Given the description of an element on the screen output the (x, y) to click on. 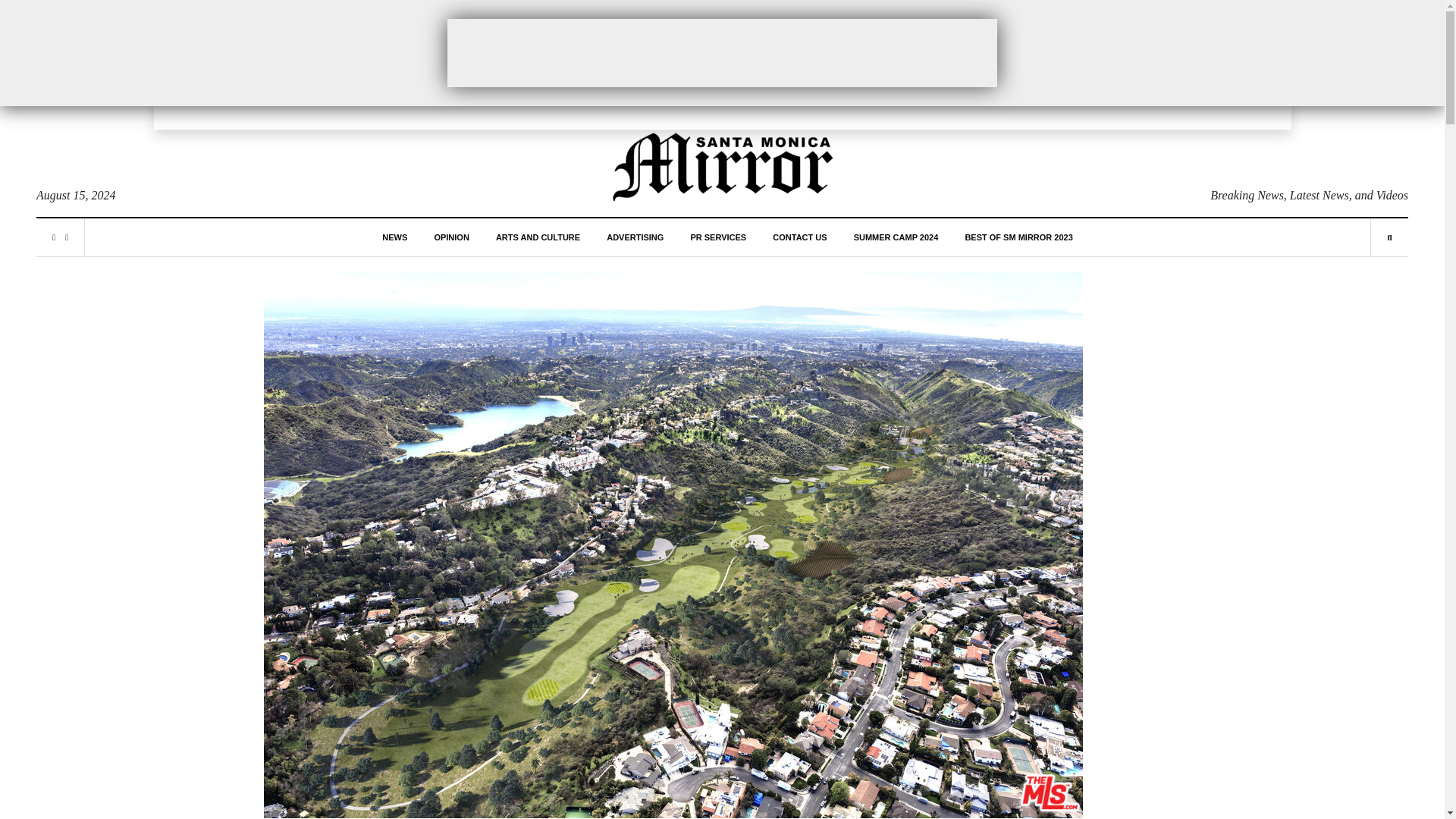
CONTACT US (800, 237)
ARTS AND CULTURE (537, 237)
PR SERVICES (717, 237)
ADVERTISING (635, 237)
BEST OF SM MIRROR 2023 (1017, 237)
OPINION (450, 237)
SUMMER CAMP 2024 (896, 237)
3rd party ad content (721, 52)
